Given the description of an element on the screen output the (x, y) to click on. 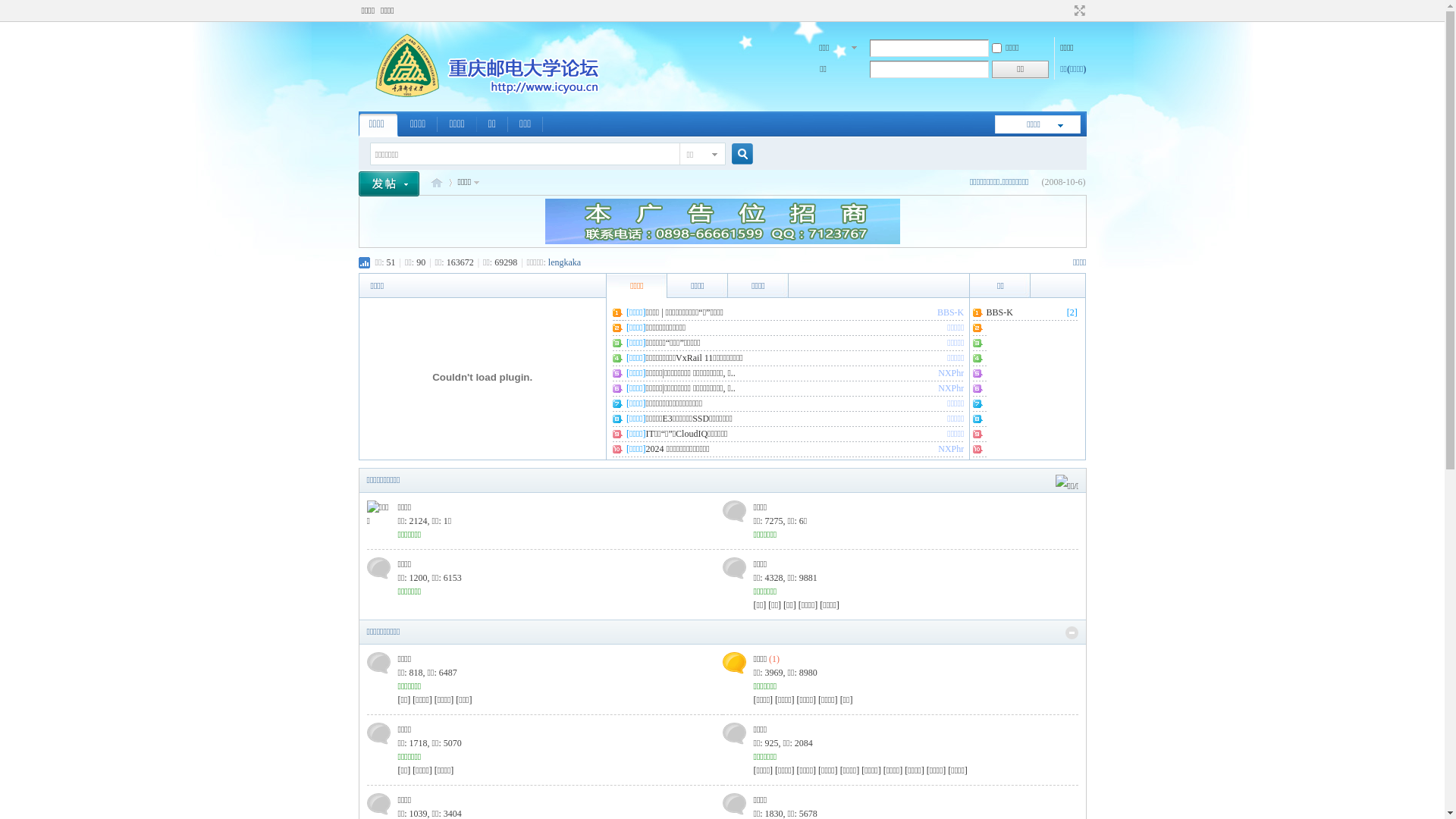
lengkaka Element type: text (564, 262)
NXPhr Element type: text (950, 448)
BBS-K Element type: text (999, 312)
BBS-K Element type: text (950, 312)
NXPhr Element type: text (950, 387)
     Element type: text (393, 182)
true Element type: text (735, 154)
NXPhr Element type: text (950, 372)
